Given the description of an element on the screen output the (x, y) to click on. 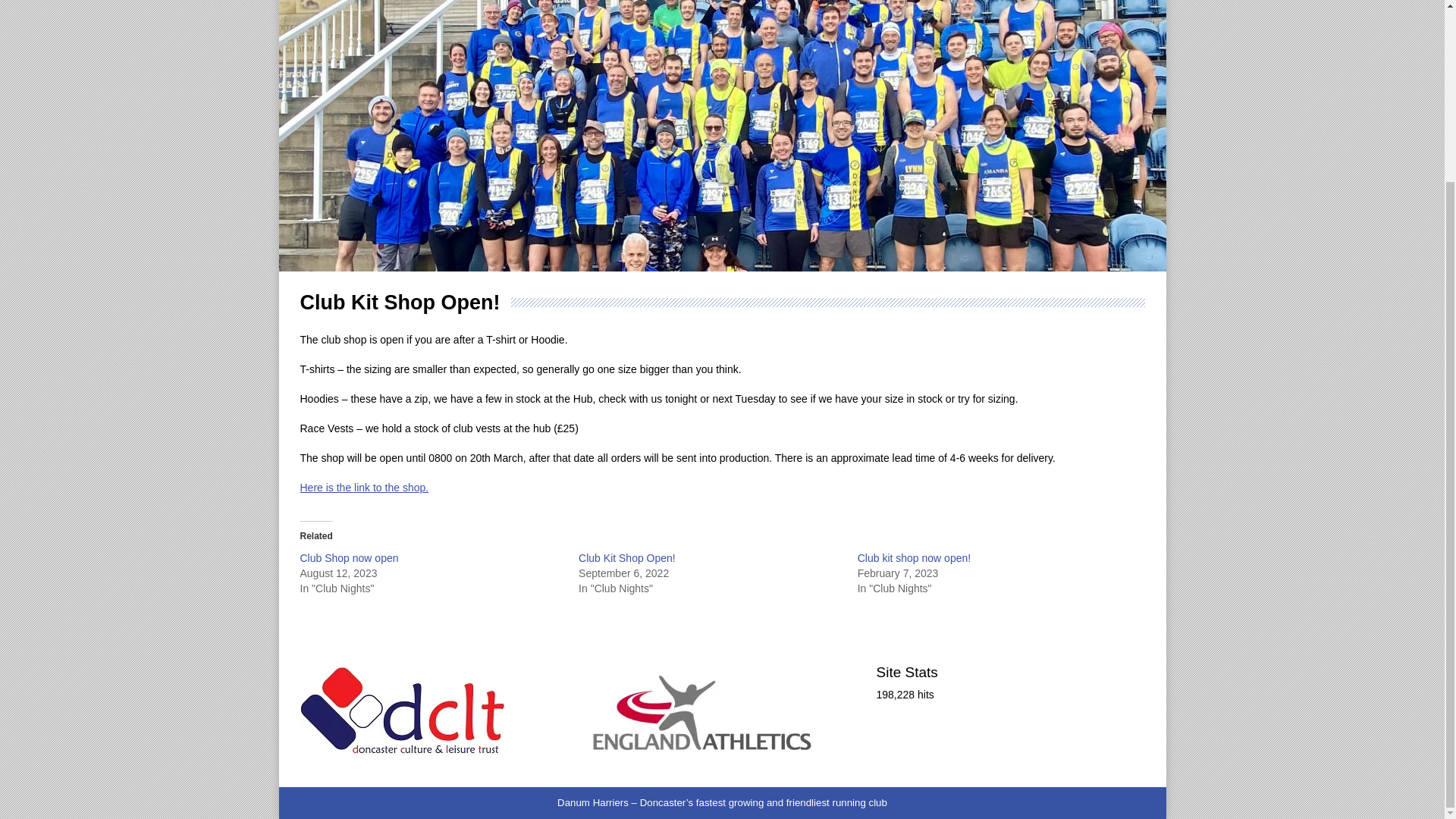
Club Kit Shop Open! (626, 558)
Club Shop now open (348, 558)
Club kit shop now open! (914, 558)
